Given the description of an element on the screen output the (x, y) to click on. 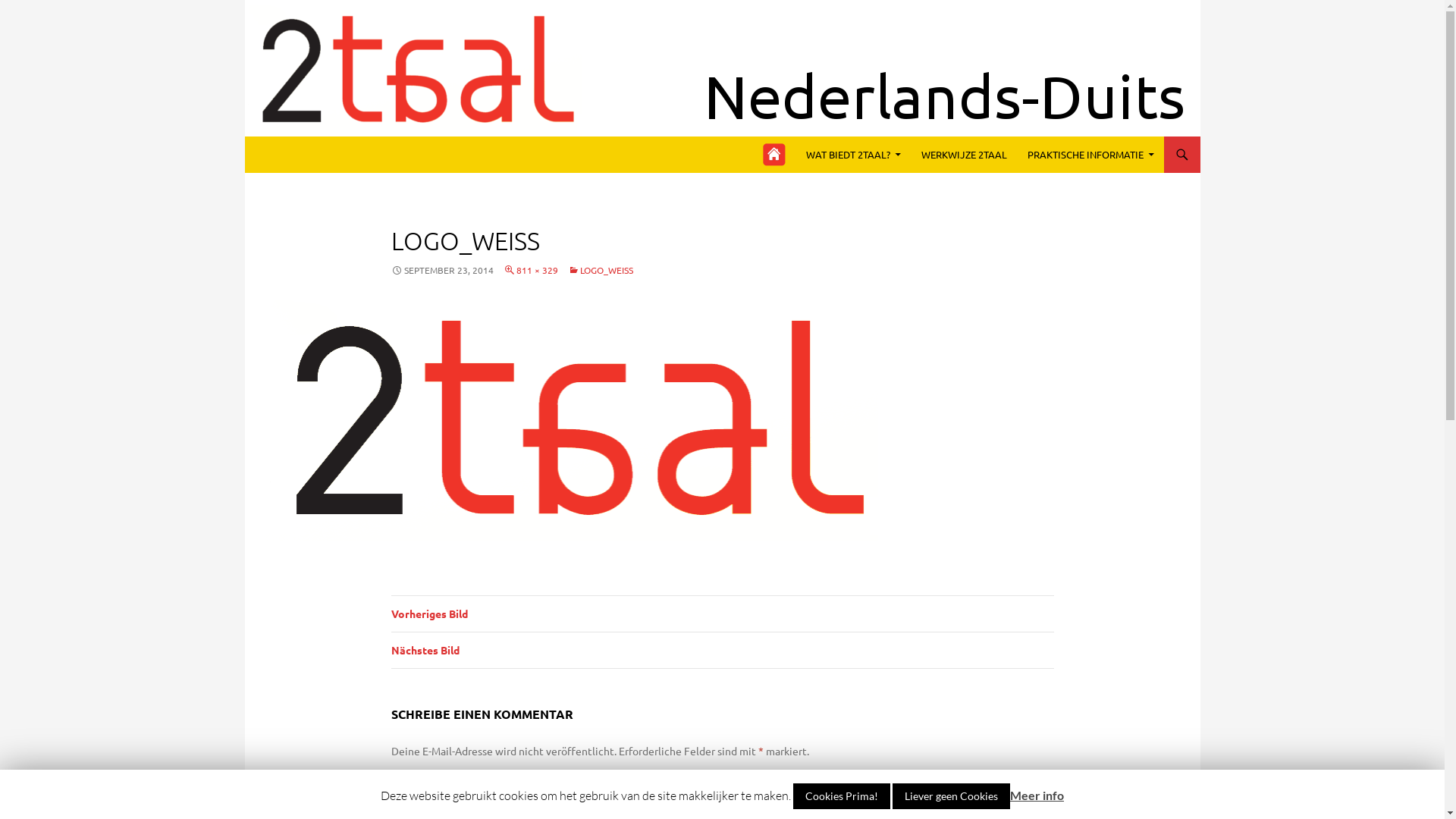
Cookies Prima! Element type: text (841, 796)
Liever geen Cookies Element type: text (951, 796)
PRAKTISCHE INFORMATIE Element type: text (1089, 154)
2taal Element type: text (283, 154)
WERKWIJZE 2TAAL Element type: text (963, 154)
Meer info Element type: text (1036, 795)
Suchen Element type: text (247, 135)
HOME Element type: text (778, 154)
LOGO_WEISS Element type: text (599, 269)
SPRINGE ZUM INHALT Element type: text (770, 135)
WAT BIEDT 2TAAL? Element type: text (852, 154)
Vorheriges Bild Element type: text (722, 614)
